Given the description of an element on the screen output the (x, y) to click on. 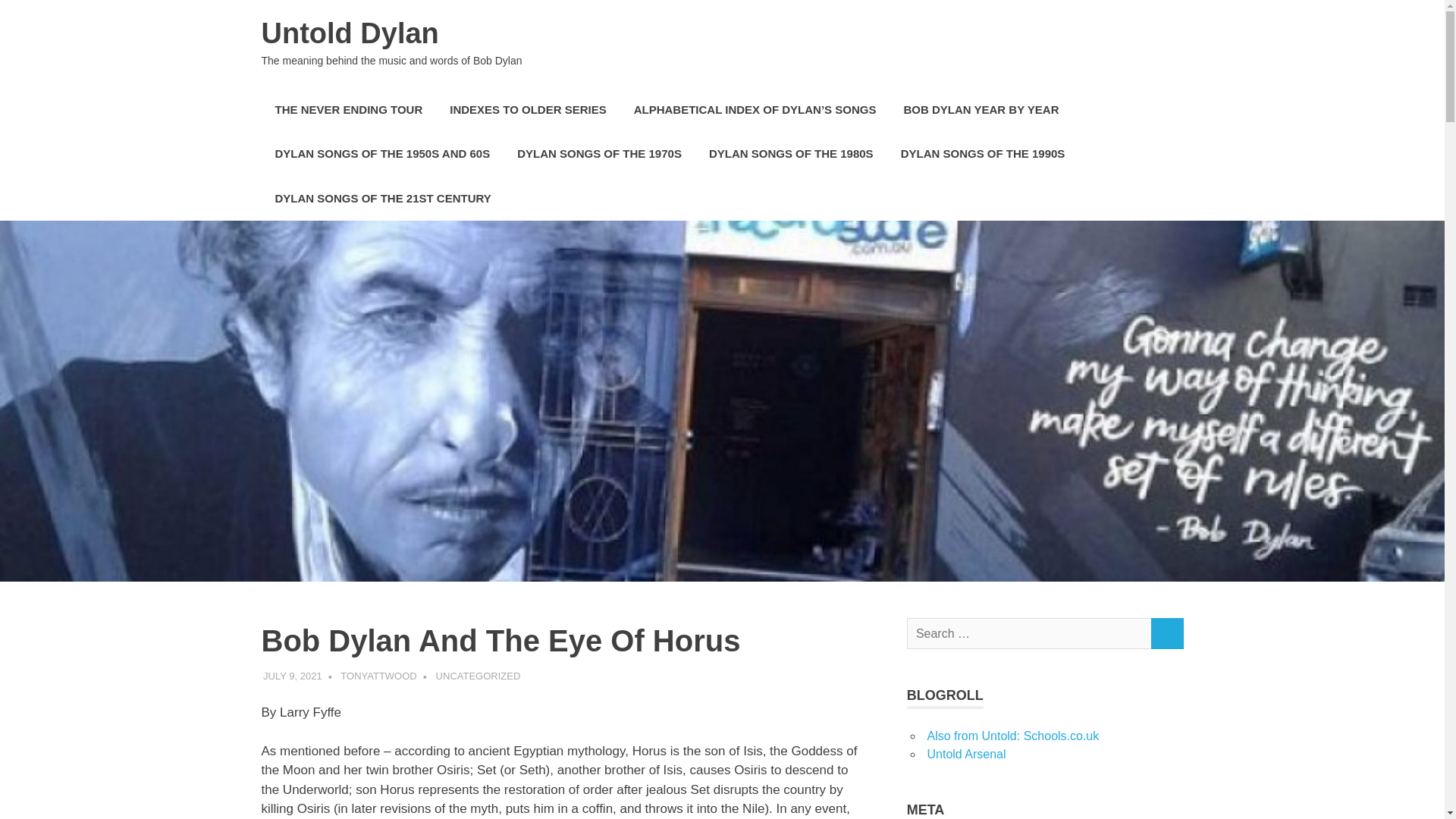
SEARCH (1166, 633)
DYLAN SONGS OF THE 1990S (982, 153)
JULY 9, 2021 (292, 675)
INDEXES TO OLDER SERIES (527, 109)
DYLAN SONGS OF THE 1950S AND 60S (381, 153)
UNCATEGORIZED (478, 675)
Untold Dylan (349, 33)
Untold Arsenal (966, 753)
Search for: (1029, 633)
8:31 am (292, 675)
